Given the description of an element on the screen output the (x, y) to click on. 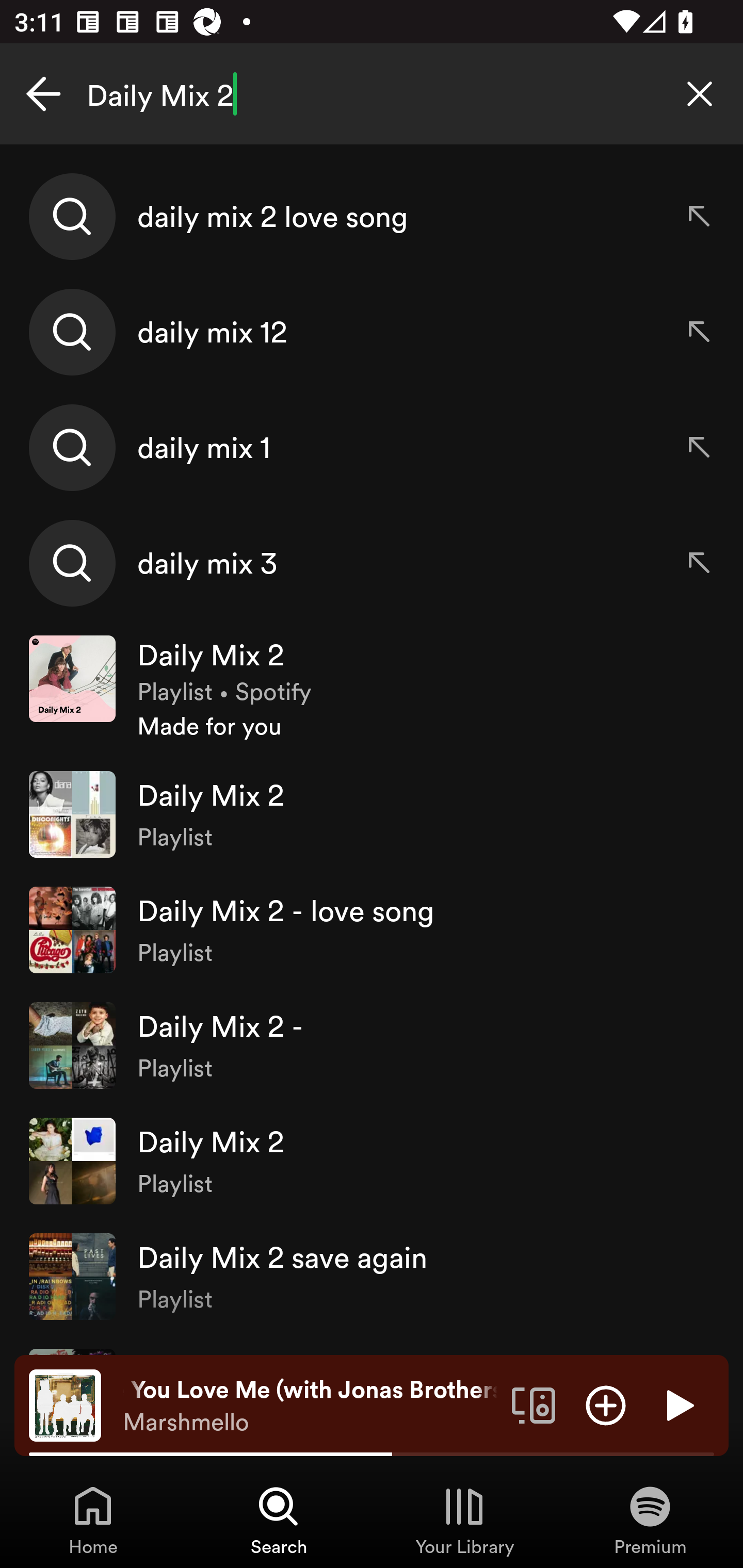
Daily Mix 2 (371, 93)
Cancel (43, 93)
Clear search query (699, 93)
daily mix 2 love song (371, 216)
daily mix 12 (371, 332)
daily mix 1 (371, 447)
daily mix 3 (371, 562)
Daily Mix 2 Playlist • Spotify Made for you (371, 688)
Daily Mix 2 Playlist (371, 814)
Daily Mix 2 - love song Playlist (371, 929)
Daily Mix 2 - Playlist (371, 1045)
Daily Mix 2 Playlist (371, 1160)
Daily Mix 2 save again Playlist (371, 1276)
The cover art of the currently playing track (64, 1404)
